Given the description of an element on the screen output the (x, y) to click on. 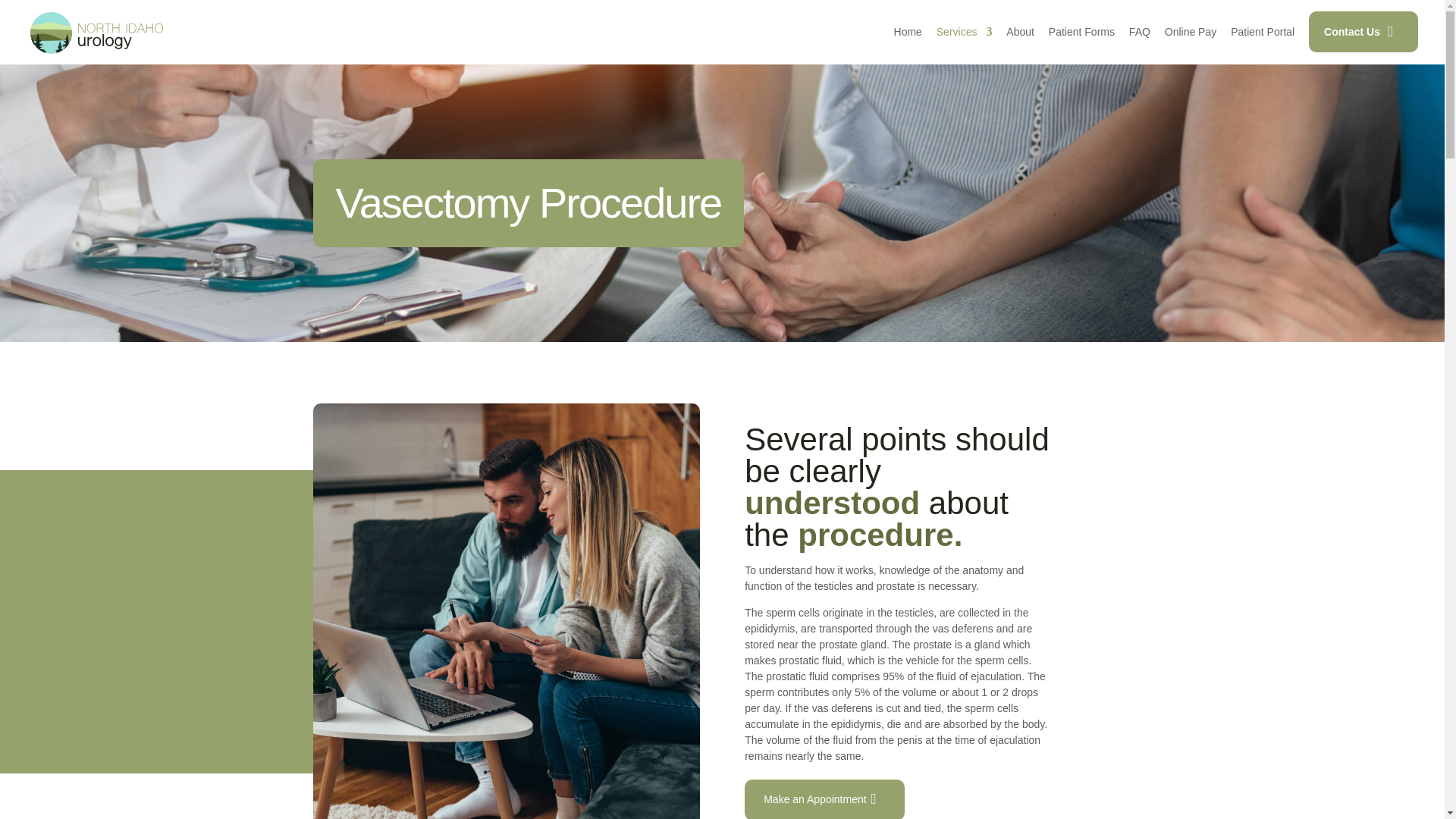
Online Pay (1189, 31)
FAQ (1139, 31)
Home (907, 31)
Patient Portal (1262, 31)
Services (964, 44)
Make an Appointment (824, 799)
Contact Us (1363, 31)
About (1019, 31)
Patient Forms (1081, 31)
